Given the description of an element on the screen output the (x, y) to click on. 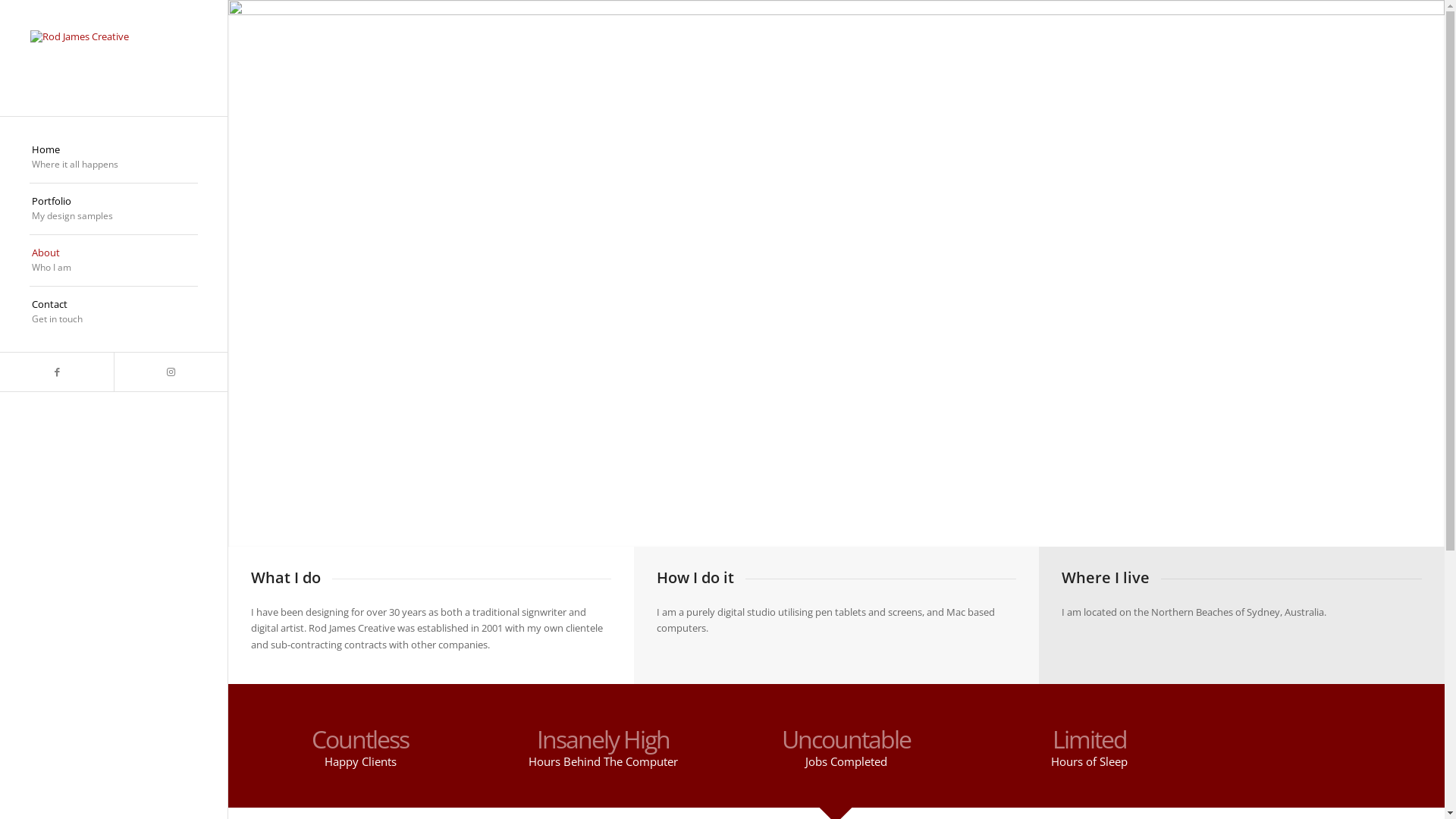
wood-logo Element type: hover (836, 273)
About
Who I am Element type: text (113, 260)
Contact
Get in touch Element type: text (113, 311)
Instagram Element type: hover (170, 371)
Home
Where it all happens Element type: text (113, 157)
Portfolio
My design samples Element type: text (113, 209)
Facebook Element type: hover (56, 371)
